Given the description of an element on the screen output the (x, y) to click on. 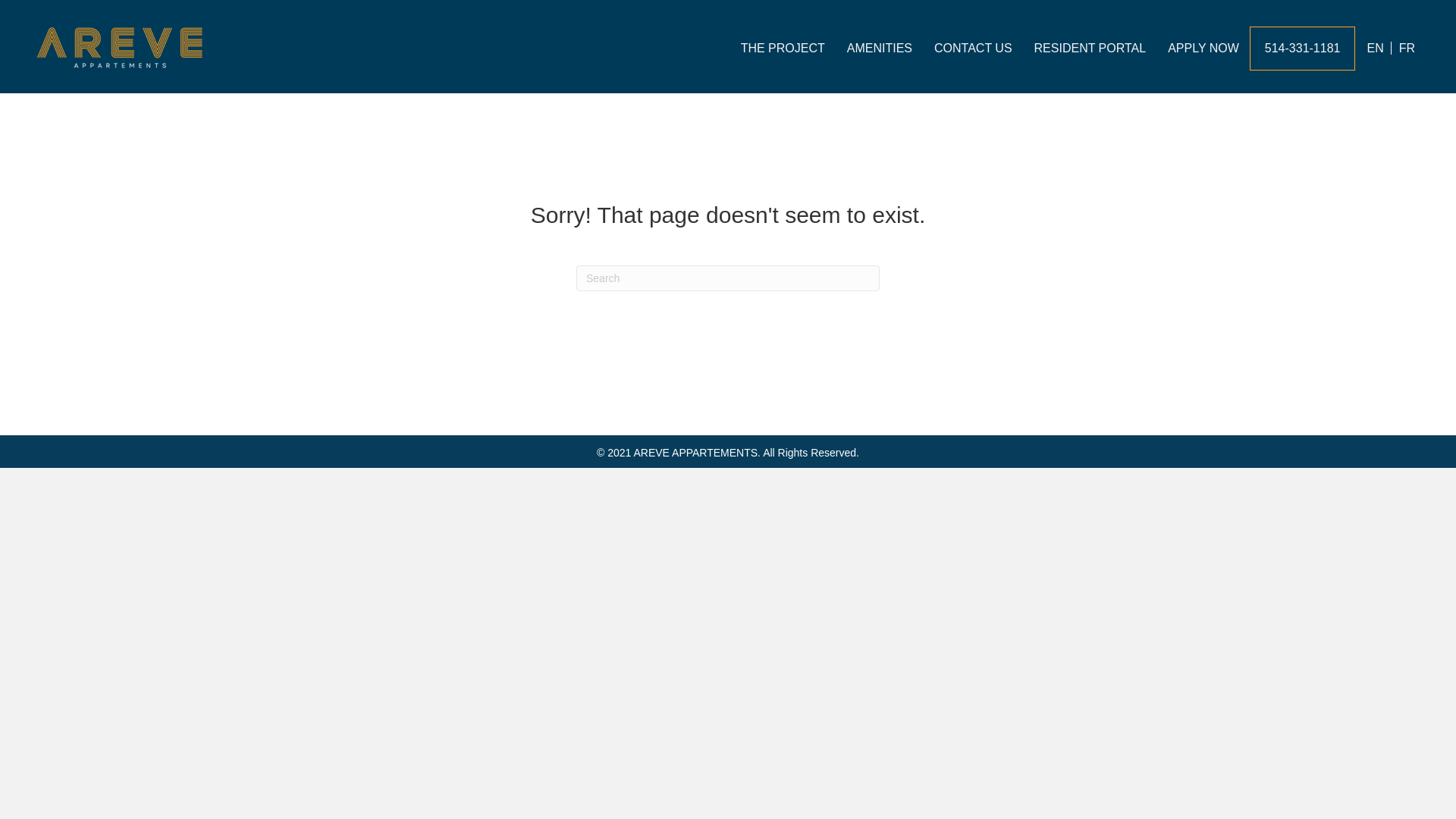
Untitled design (7) Element type: hover (119, 48)
CONTACT US Element type: text (972, 48)
AMENITIES Element type: text (879, 48)
Type and press Enter to search. Element type: hover (727, 278)
THE PROJECT Element type: text (782, 48)
RESIDENT PORTAL Element type: text (1090, 48)
514-331-1181 Element type: text (1302, 48)
EN Element type: text (1369, 48)
FR Element type: text (1407, 48)
APPLY NOW Element type: text (1203, 48)
